Given the description of an element on the screen output the (x, y) to click on. 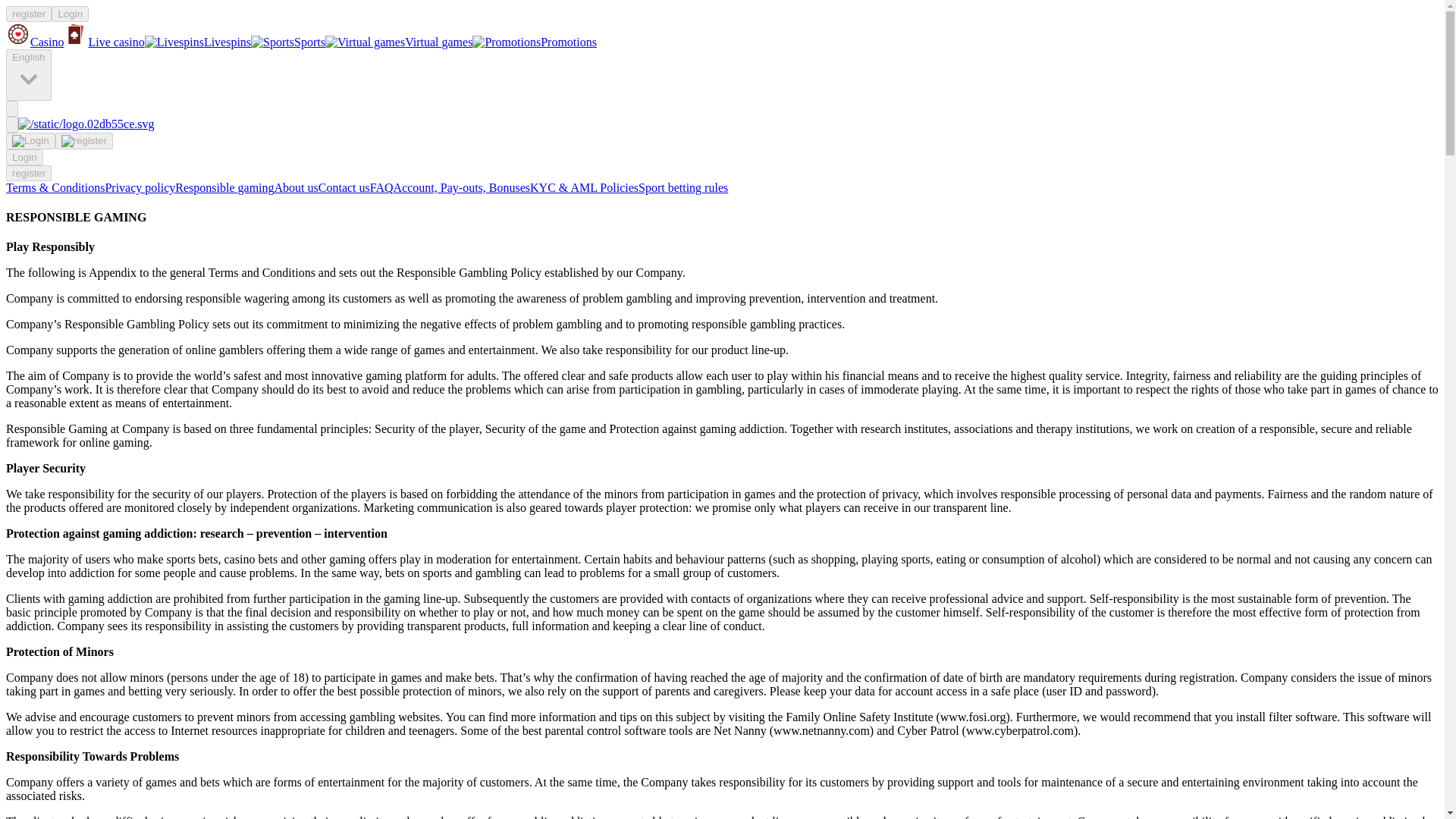
Livespins (197, 42)
register (27, 172)
About us (296, 187)
Responsible gaming (223, 187)
Live casino (104, 42)
FAQ (381, 187)
register (27, 13)
Sport betting rules (683, 187)
Promotions (533, 42)
Login (69, 13)
